Given the description of an element on the screen output the (x, y) to click on. 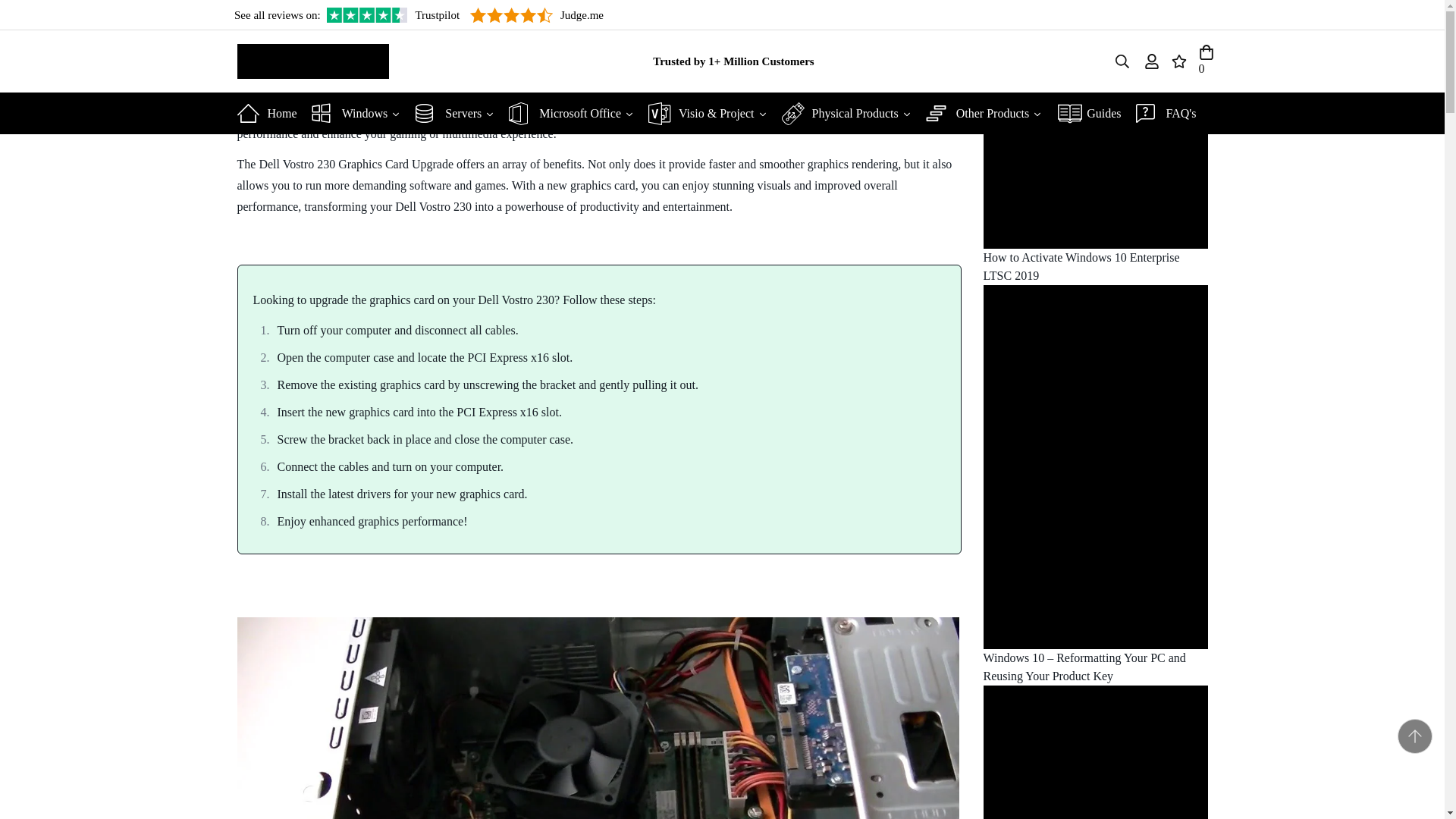
Microsoft Office (576, 113)
FAQ's (1171, 113)
Windows (361, 113)
Judge.me (537, 14)
Home (271, 113)
FAQ's (1171, 113)
Physical Products (852, 113)
Servers (459, 113)
Servers (459, 113)
Physical Products (852, 113)
